Given the description of an element on the screen output the (x, y) to click on. 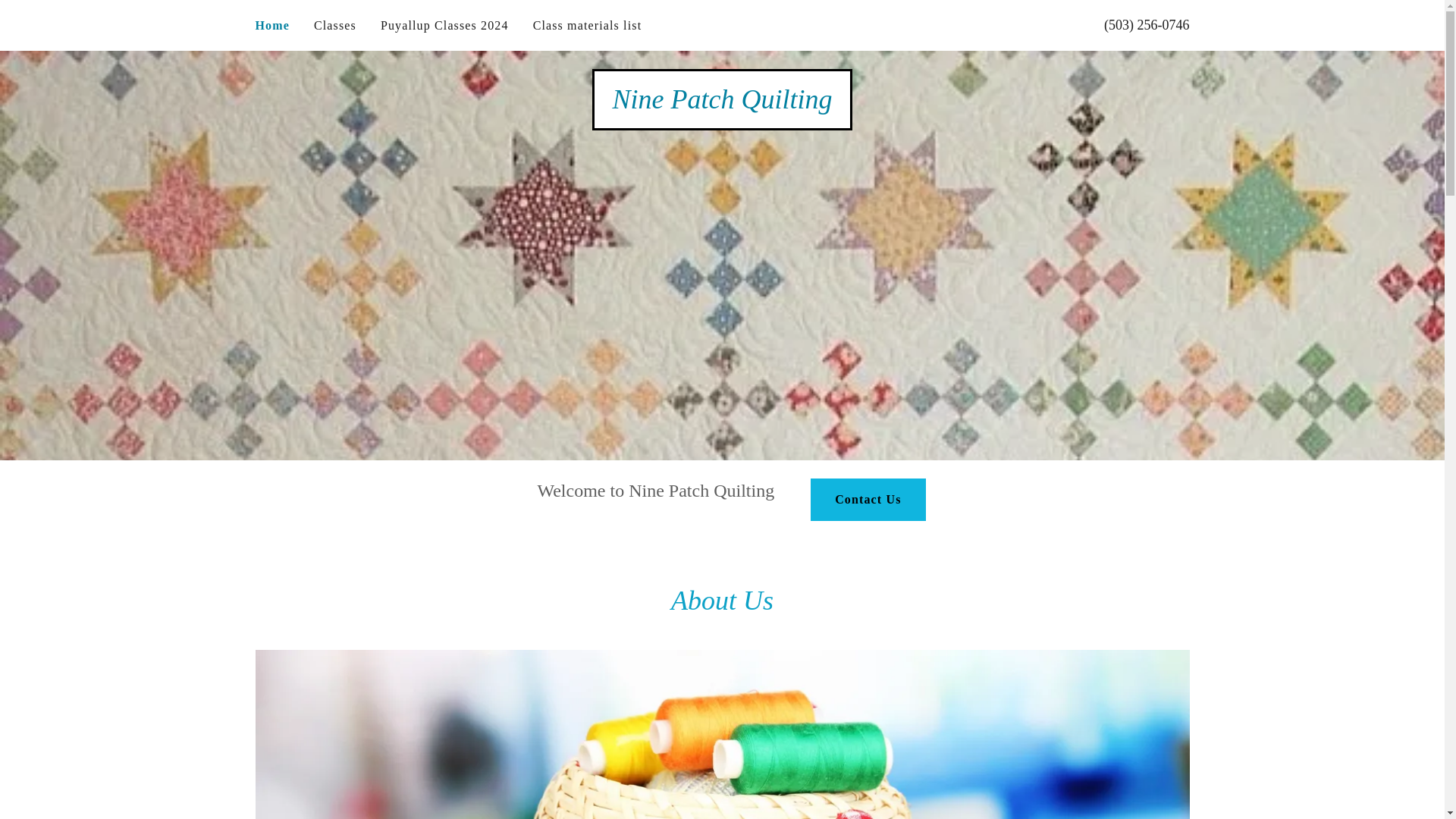
Classes (334, 25)
Nine Patch Quilting (722, 103)
Class materials list (587, 25)
Home (271, 25)
Contact Us (867, 499)
Puyallup Classes 2024 (444, 25)
Nine Patch Quilting (722, 103)
